Given the description of an element on the screen output the (x, y) to click on. 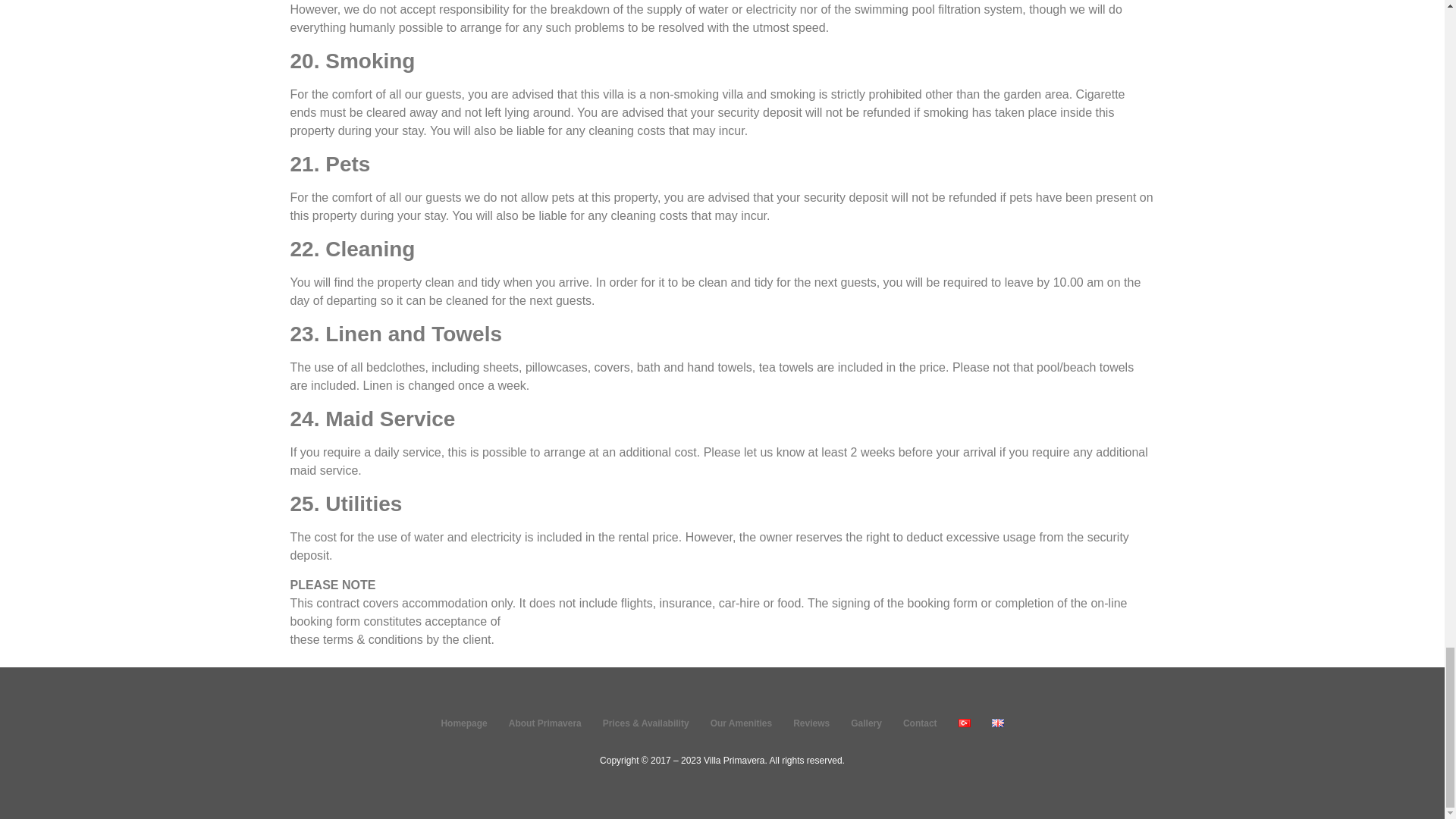
Gallery (866, 723)
Reviews (811, 723)
Homepage (463, 723)
Our Amenities (741, 723)
About Primavera (544, 723)
Contact (919, 723)
